Given the description of an element on the screen output the (x, y) to click on. 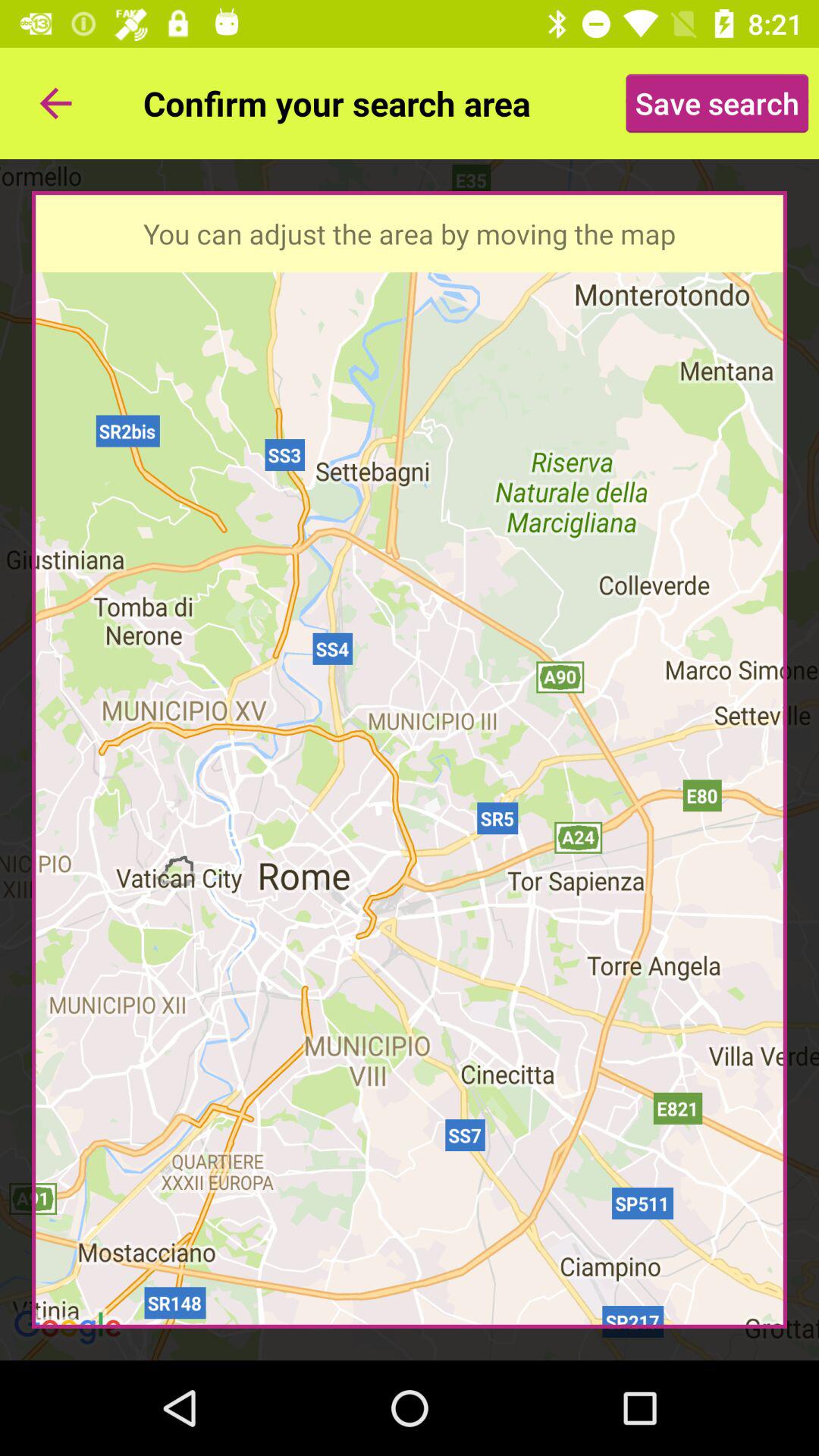
press item to the left of the confirm your search icon (55, 103)
